Given the description of an element on the screen output the (x, y) to click on. 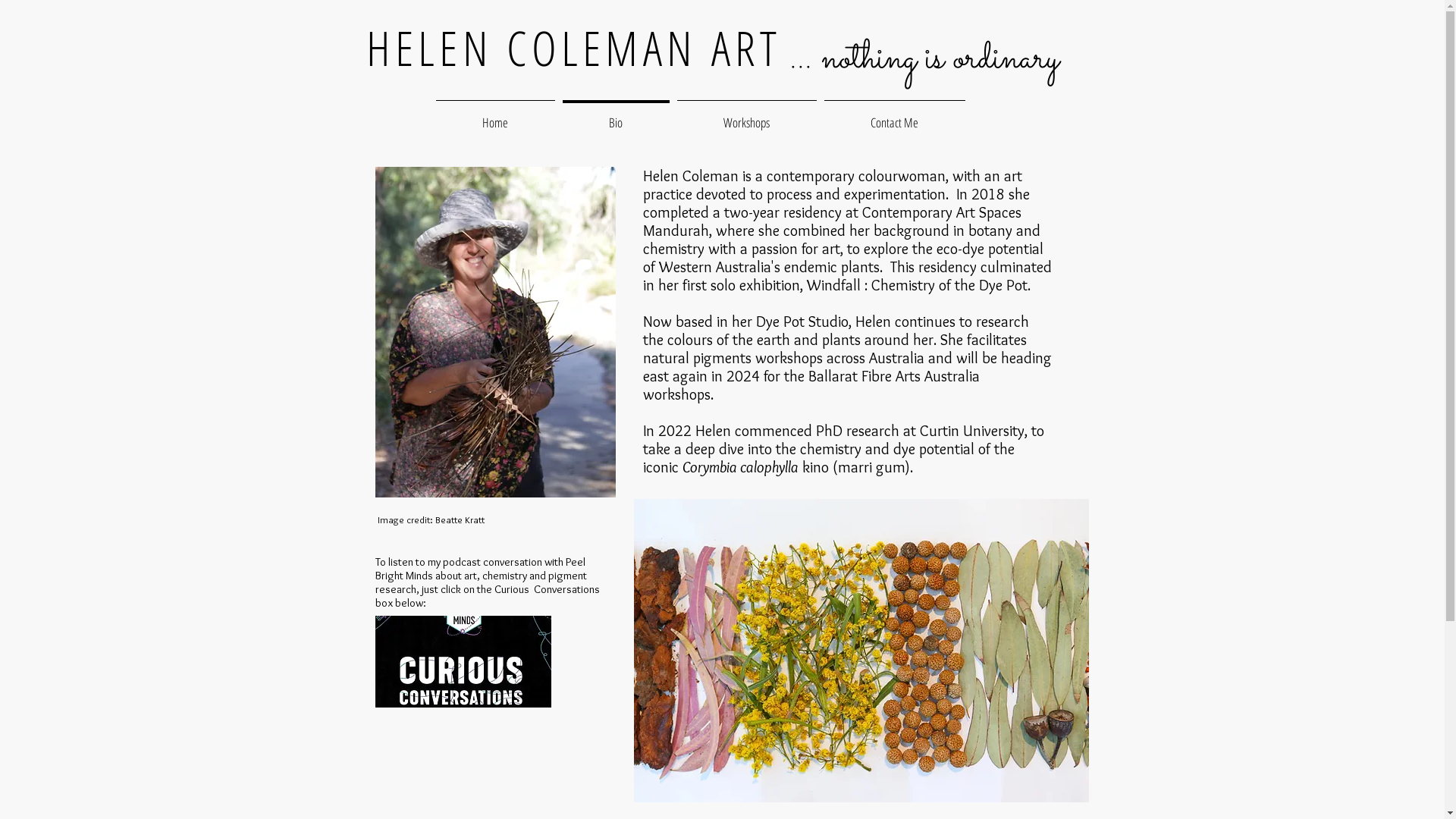
Bio Element type: text (615, 115)
Home Element type: text (495, 115)
HELEN COLEMAN ART Element type: text (573, 47)
Workshops Element type: text (746, 115)
Contact Me Element type: text (894, 115)
